Given the description of an element on the screen output the (x, y) to click on. 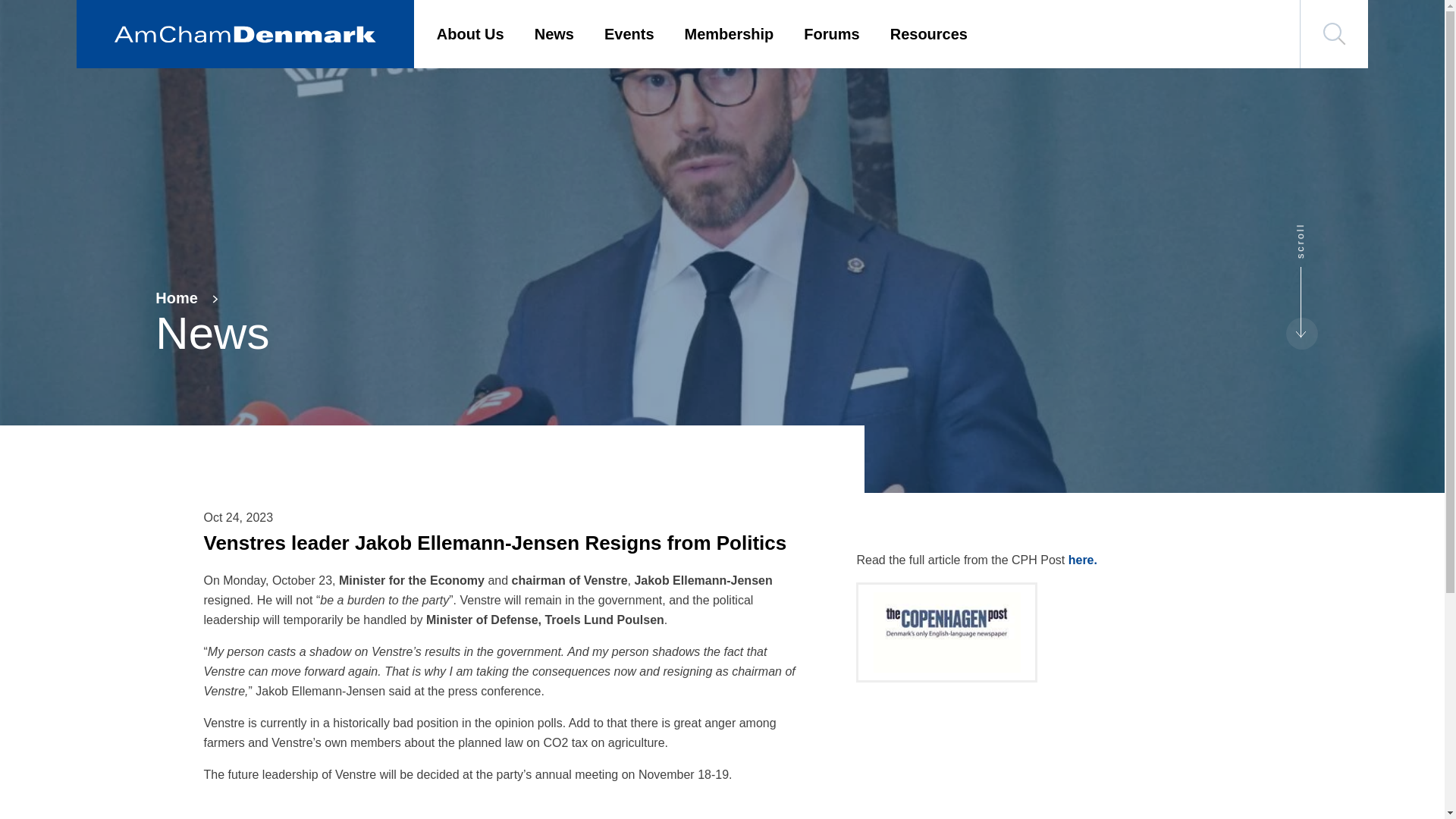
About Us (469, 34)
scroll (1312, 227)
here. (1082, 559)
Resources (928, 34)
Events (628, 34)
Membership (729, 34)
Forums (831, 34)
News (553, 34)
